Given the description of an element on the screen output the (x, y) to click on. 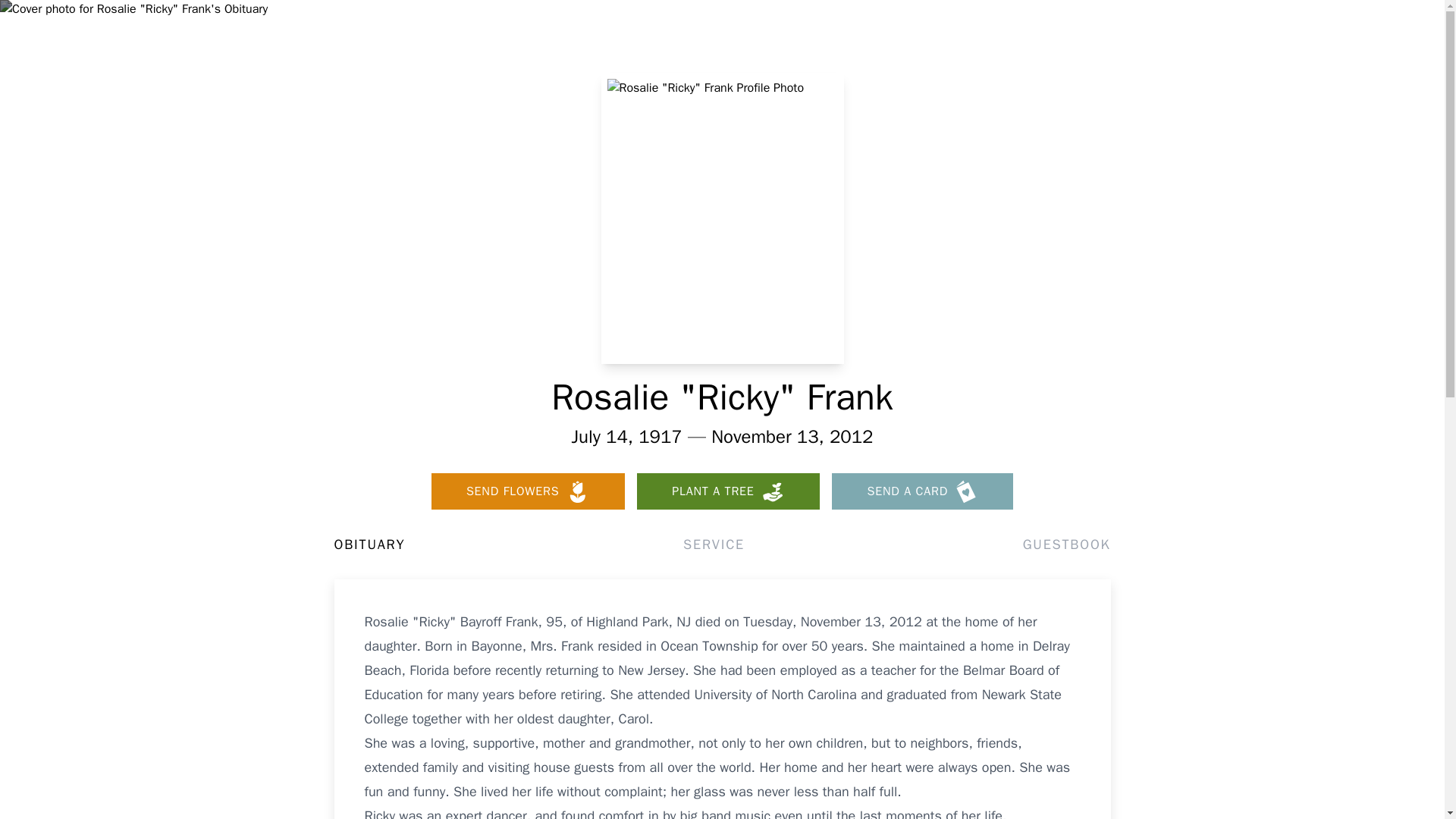
OBITUARY (368, 544)
SEND FLOWERS (527, 491)
SERVICE (713, 544)
GUESTBOOK (1066, 544)
All Obituaries from Crabiel Parkwest Funeral Chapel (1316, 116)
SEND A CARD (922, 491)
PLANT A TREE (728, 491)
